Given the description of an element on the screen output the (x, y) to click on. 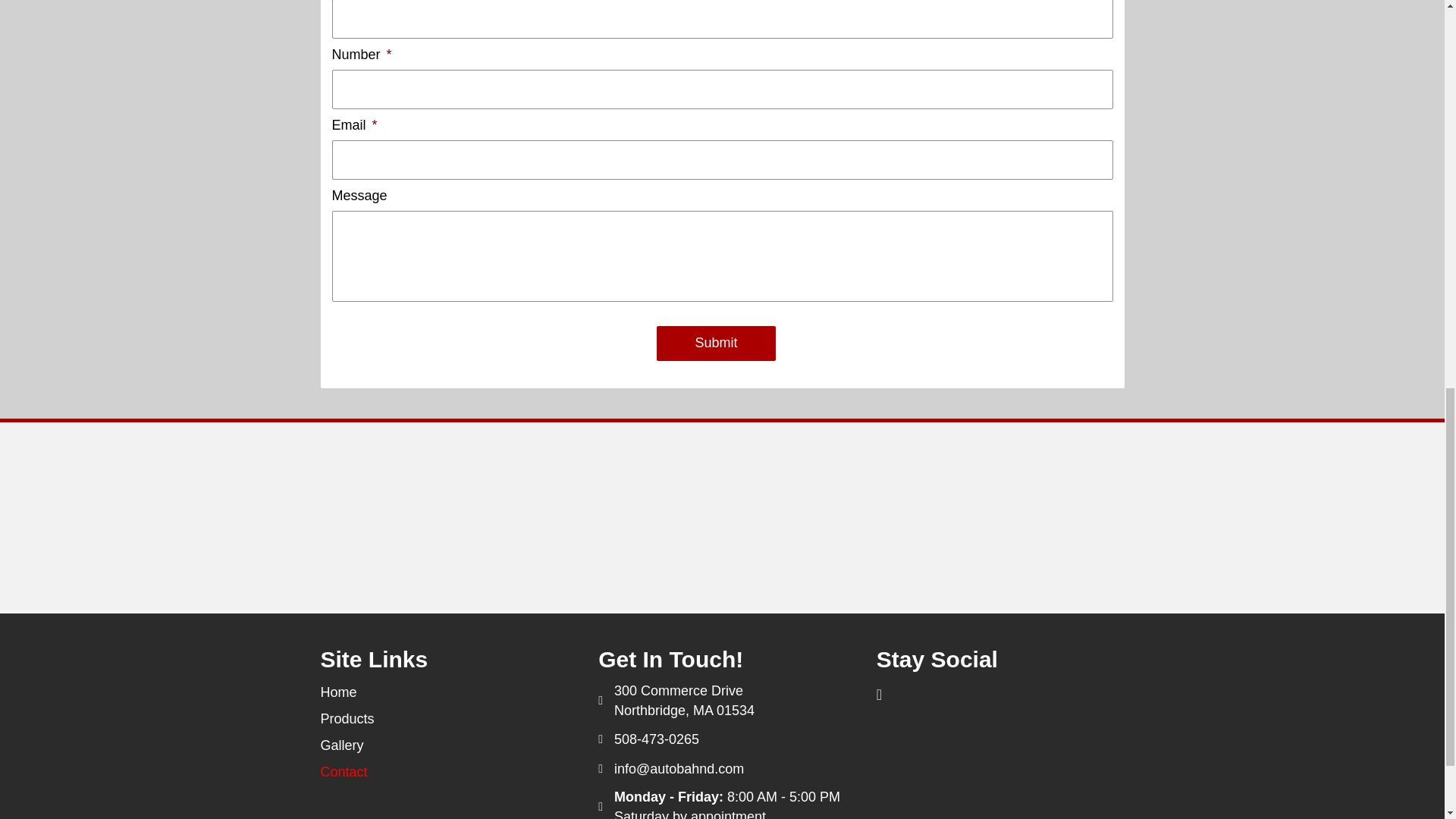
Submit (715, 343)
Gallery (443, 745)
508-473-0265 (656, 739)
Products (443, 718)
300 Commerce Drive (678, 690)
Submit (715, 343)
Home (443, 692)
Contact (443, 771)
